Given the description of an element on the screen output the (x, y) to click on. 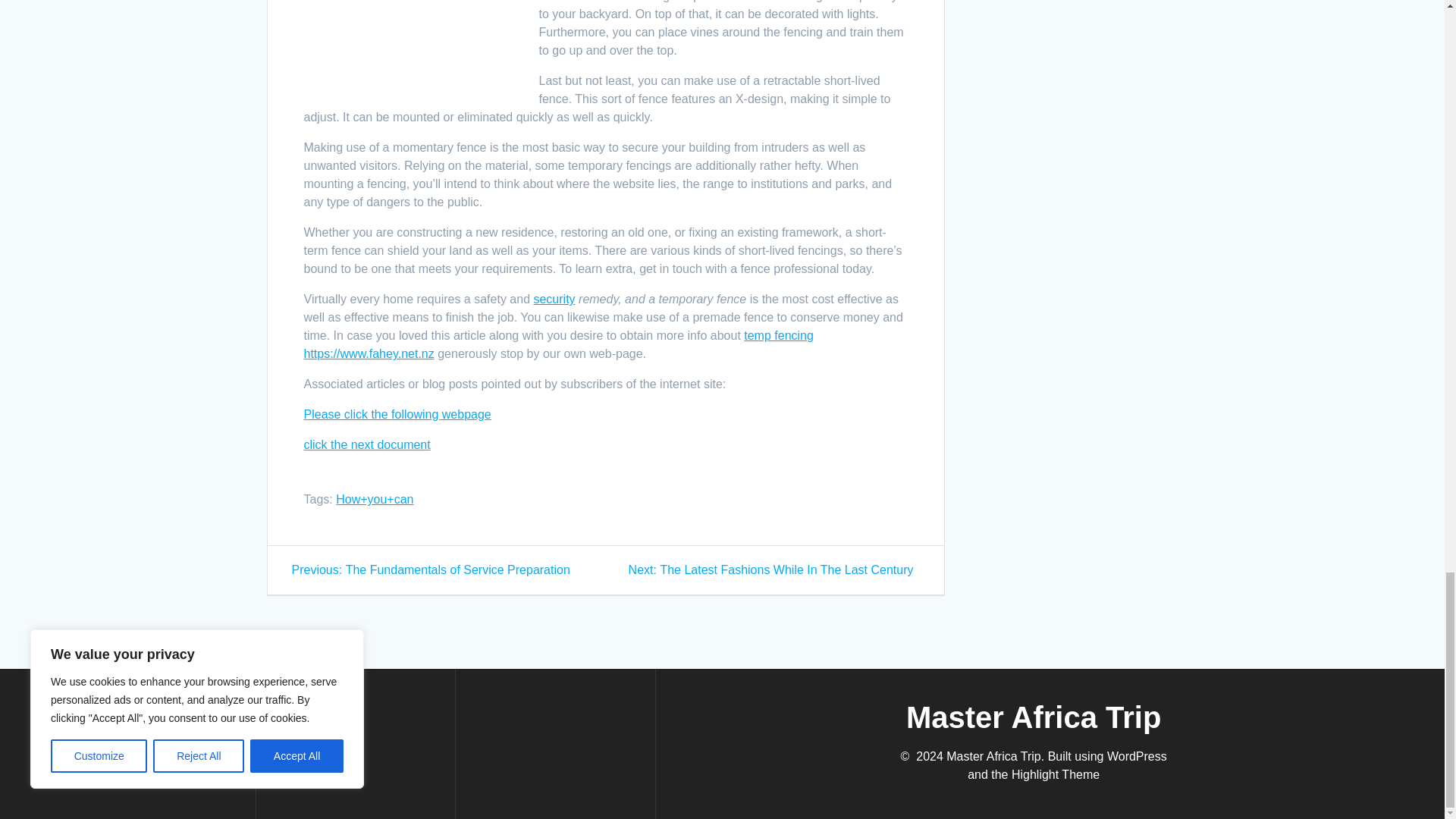
security (553, 298)
Please click the following webpage (396, 413)
click the next document (365, 444)
